Given the description of an element on the screen output the (x, y) to click on. 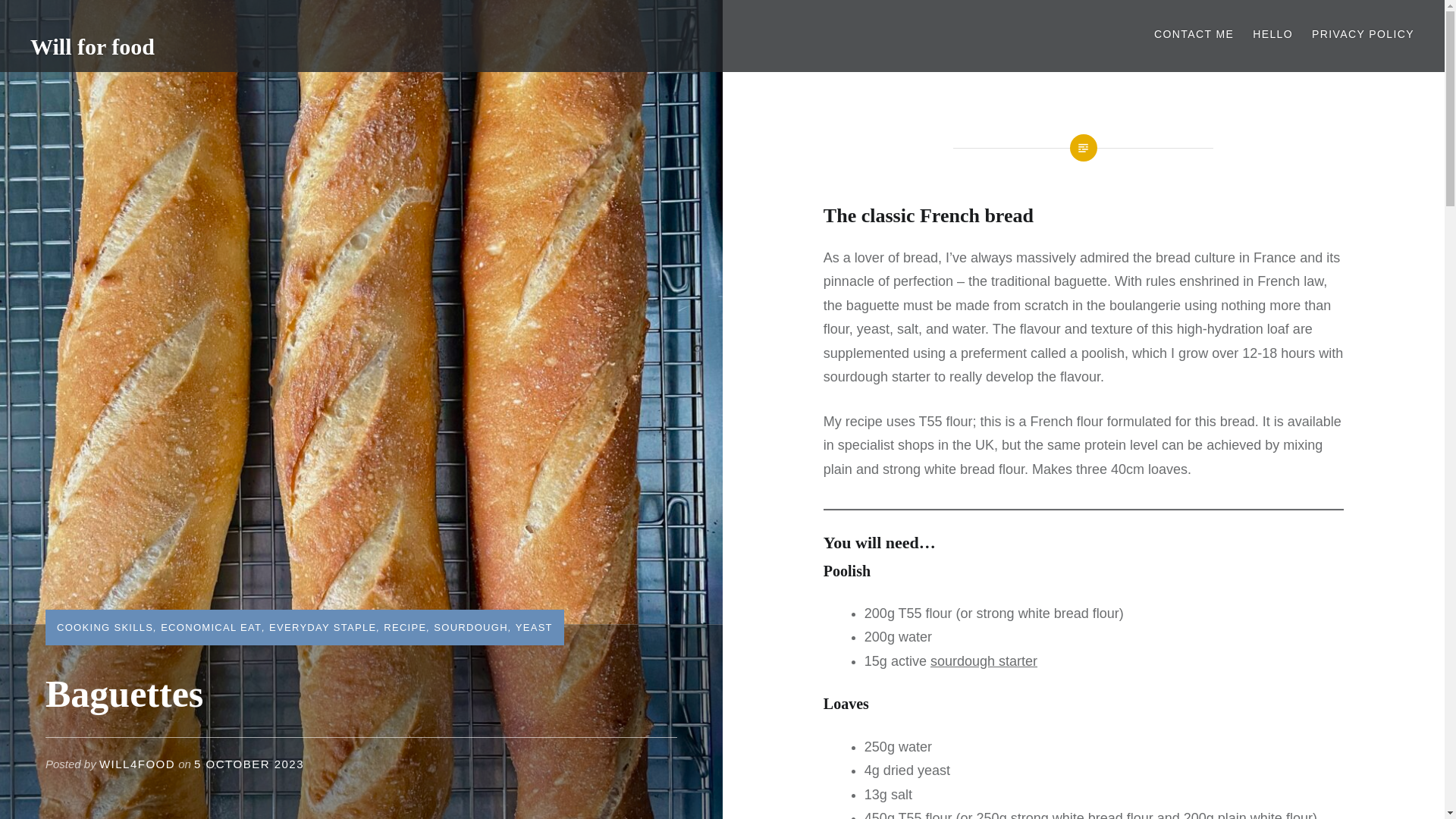
Will for food (92, 46)
HELLO (1272, 34)
YEAST (534, 627)
sourdough starter (983, 661)
RECIPE (405, 627)
SOURDOUGH (470, 627)
ECONOMICAL EAT (211, 627)
5 OCTOBER 2023 (248, 763)
CONTACT ME (1193, 34)
PRIVACY POLICY (1362, 34)
COOKING SKILLS (104, 627)
WILL4FOOD (136, 763)
EVERYDAY STAPLE (322, 627)
